Given the description of an element on the screen output the (x, y) to click on. 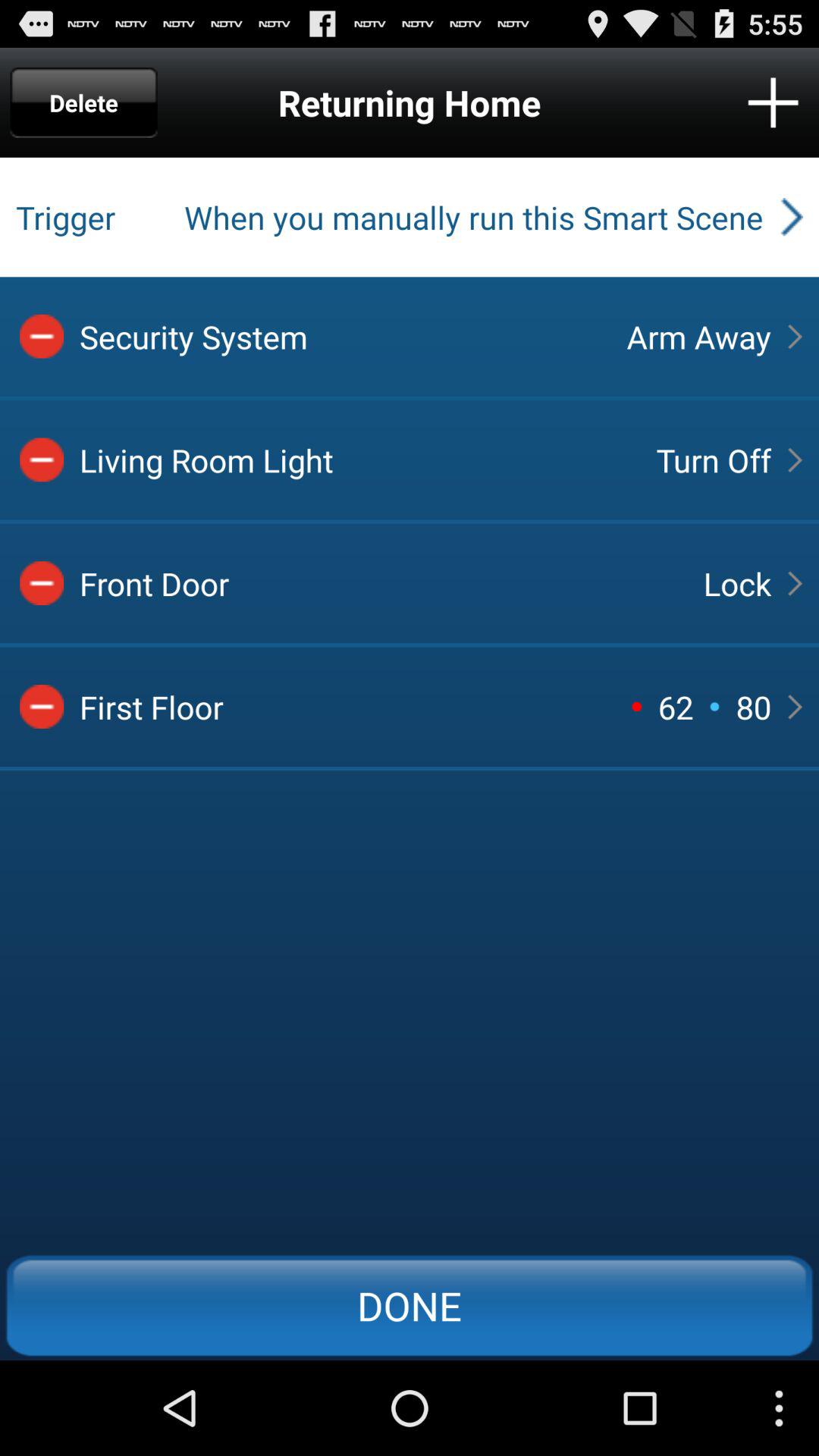
choose app above first floor icon (378, 583)
